Given the description of an element on the screen output the (x, y) to click on. 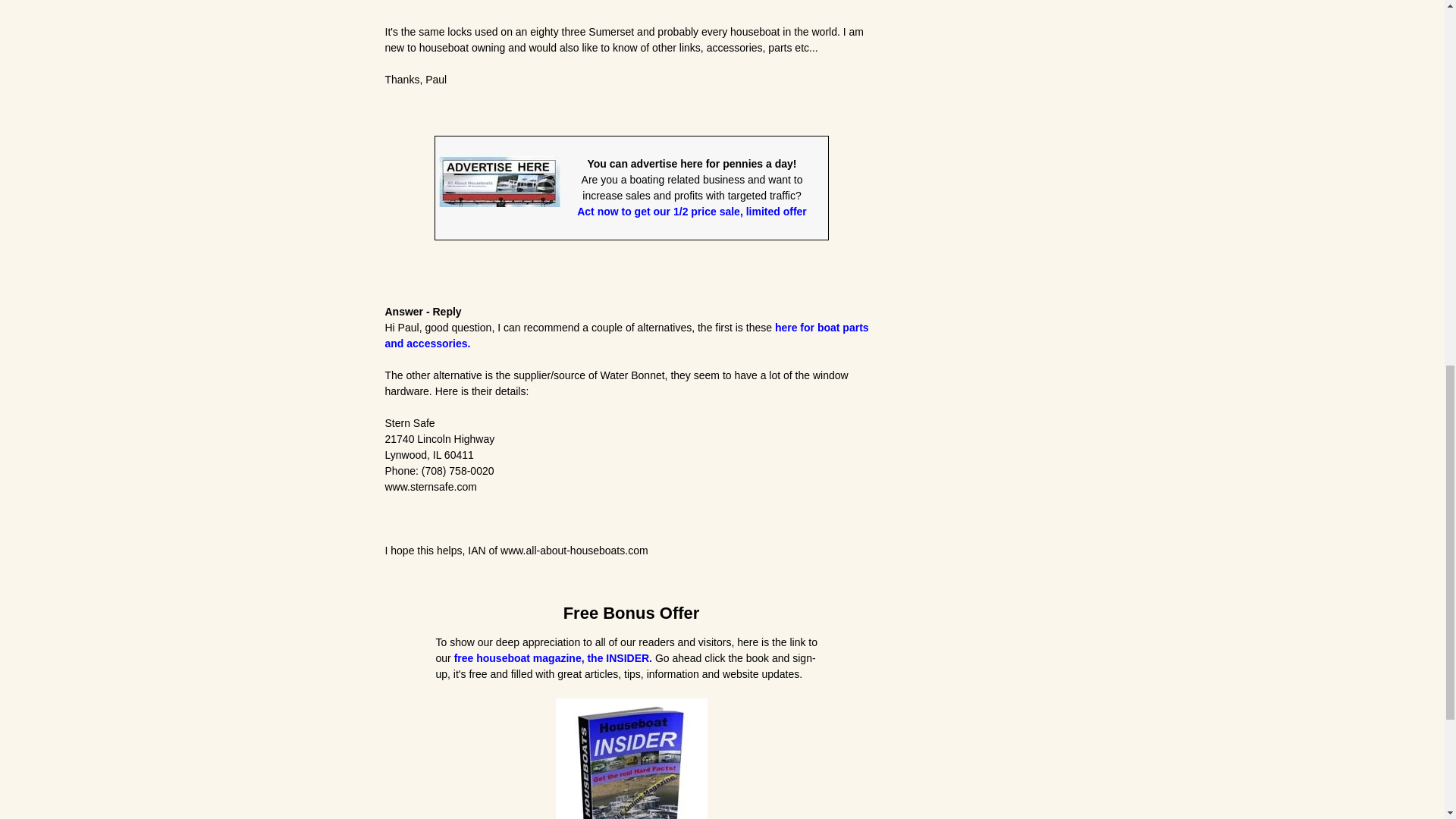
grab our free Houseboat Magazine, the INSIDER (553, 657)
free houseboat magazine, the INSIDER. (553, 657)
Advertise with Houseboat Business Advertising (691, 211)
here for boat parts and accessories. (627, 335)
free INSIDER Houseboat Magazine (630, 758)
Advertise Houseboat Business Advertising Classified Ads (498, 181)
